Given the description of an element on the screen output the (x, y) to click on. 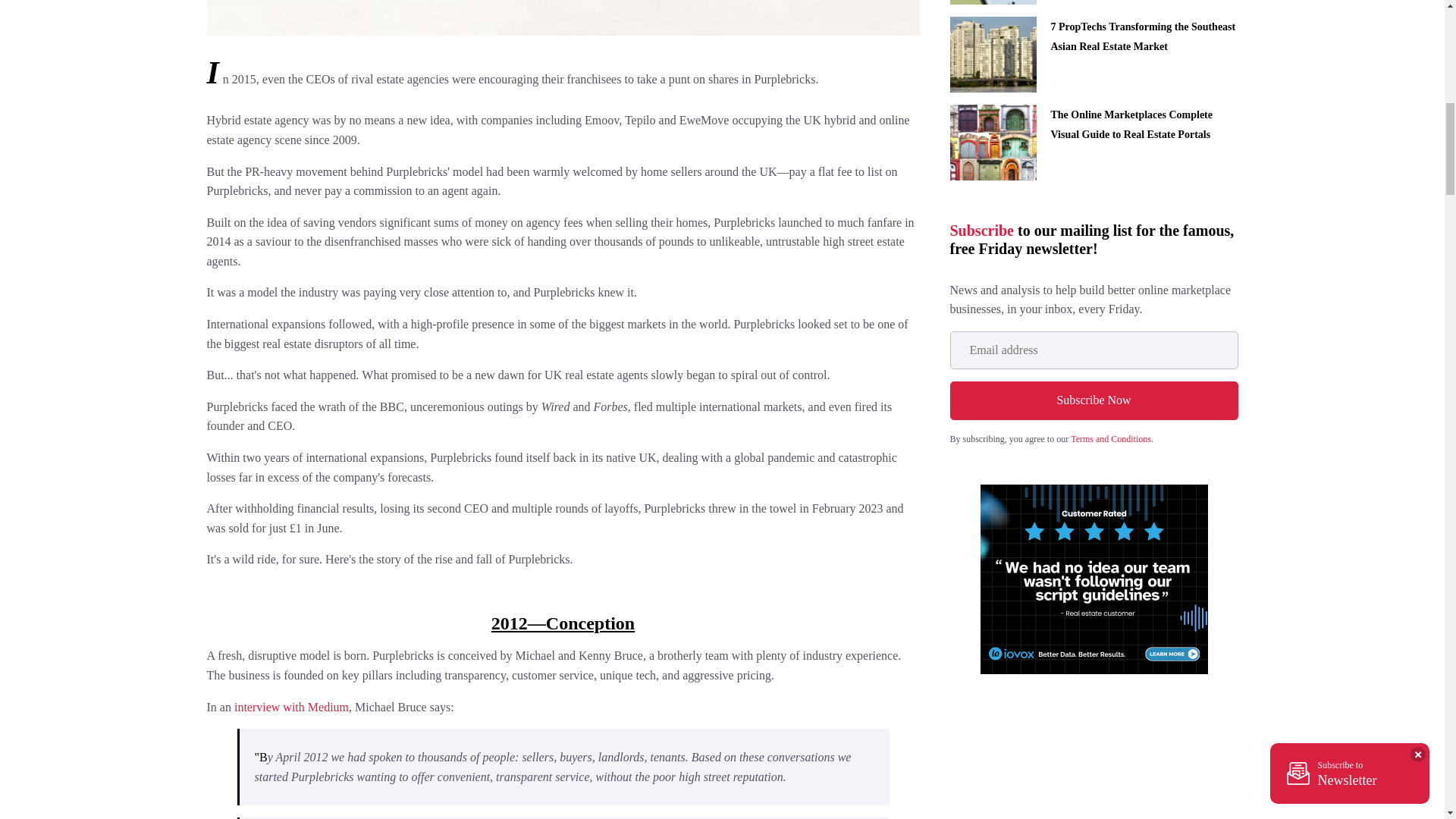
interview with Medium (291, 707)
Subscribe Now (1093, 400)
